Given the description of an element on the screen output the (x, y) to click on. 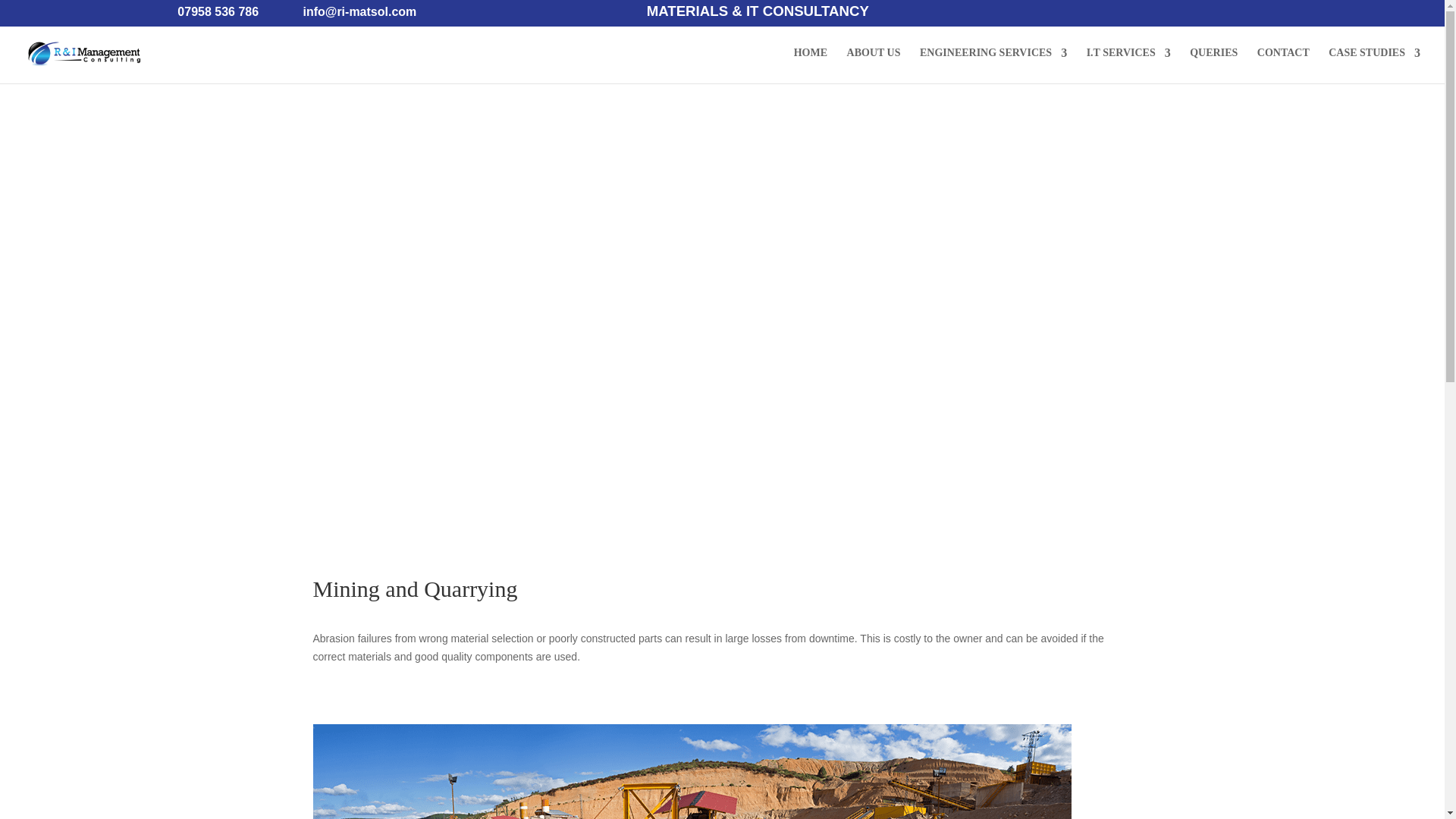
HOME (810, 65)
ABOUT US (874, 65)
I.T SERVICES (1128, 65)
CONTACT (1282, 65)
CASE STUDIES (1374, 65)
07958 536 786 (216, 15)
QUERIES (1213, 65)
ENGINEERING SERVICES (993, 65)
